Given the description of an element on the screen output the (x, y) to click on. 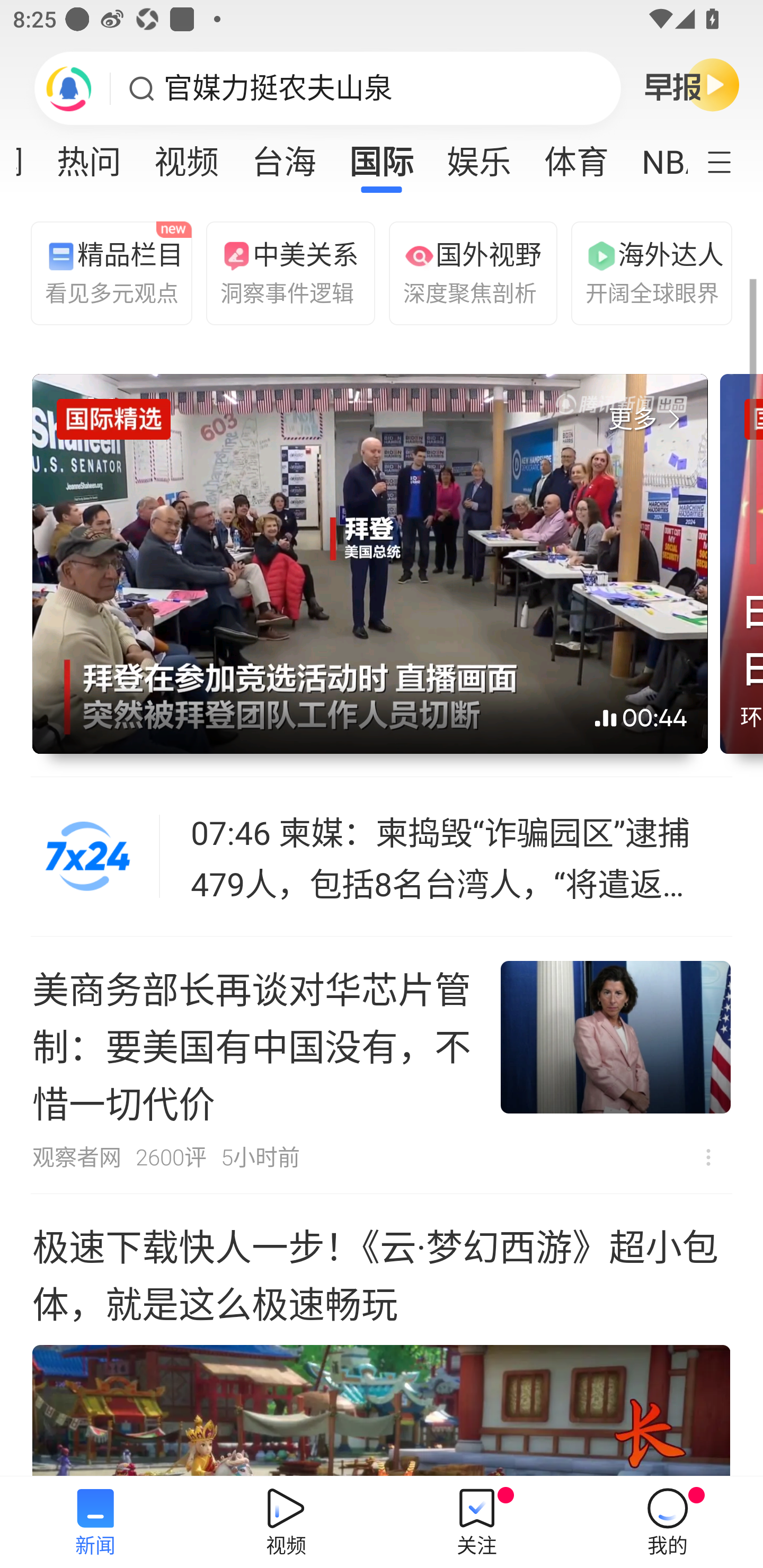
早晚报 (691, 84)
刷新 (68, 88)
官媒力挺农夫山泉 (278, 88)
热问 (89, 155)
视频 (186, 155)
台海 (283, 155)
国际 (381, 155)
娱乐 (478, 155)
体育 (575, 155)
NBA (655, 155)
 定制频道 (731, 160)
精品栏目 看见多元观点 (106, 272)
中美关系 洞察事件逻辑 (282, 272)
国外视野 深度聚焦剖析 (465, 272)
海外达人 开阔全球眼界 (647, 272)
更多  (648, 419)
07:46 柬媒：柬捣毁“诈骗园区”逮捕479人，包括8名台湾人，“将遣返回中国大陆” (461, 856)
 不感兴趣 (707, 1157)
极速下载快人一步！《云·梦幻西游》超小包体，就是这么极速畅玩 (381, 1335)
